Given the description of an element on the screen output the (x, y) to click on. 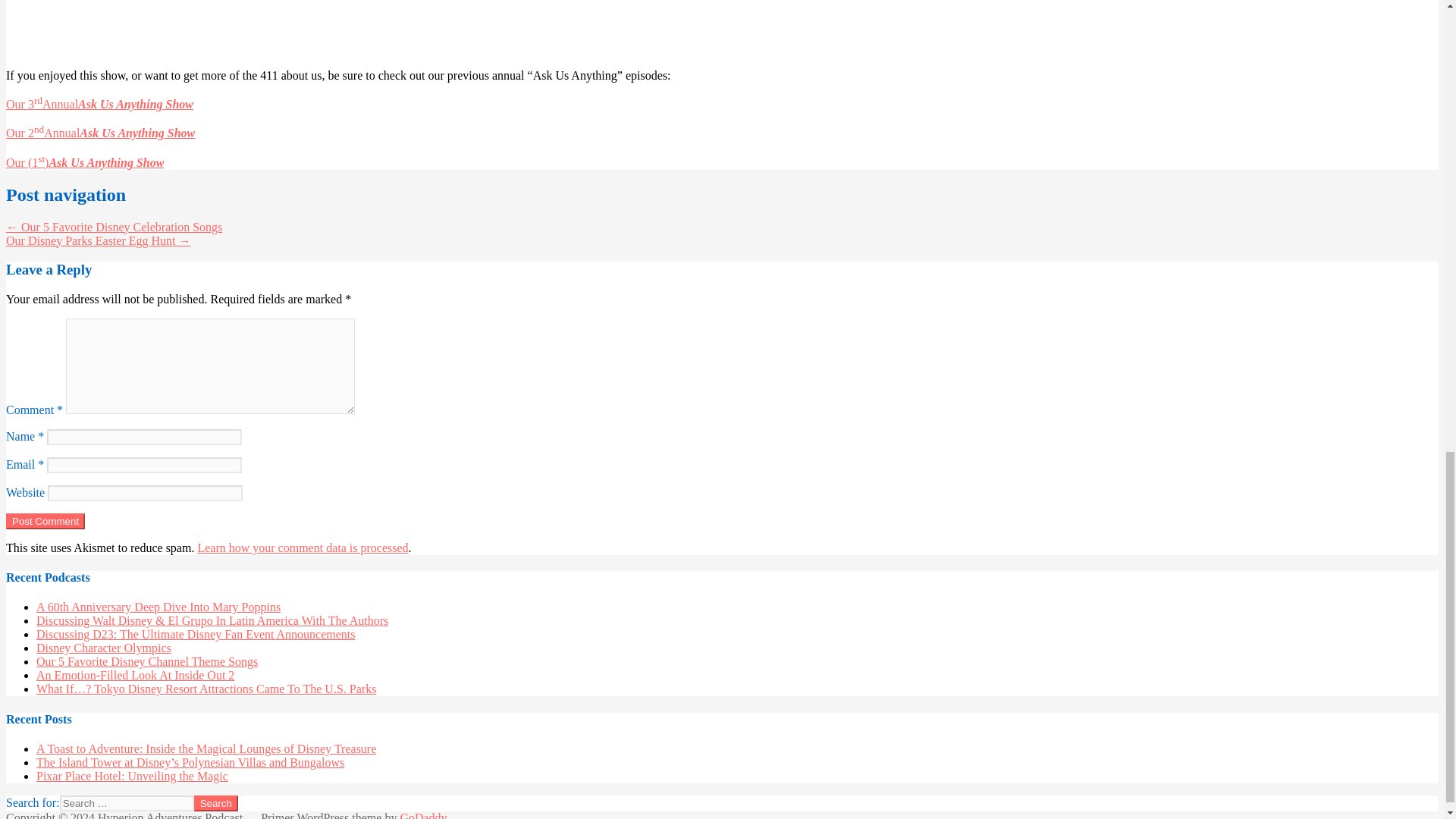
Discussing D23: The Ultimate Disney Fan Event Announcements (195, 634)
Disney Character Olympics (103, 647)
Search (215, 803)
Learn how your comment data is processed (301, 547)
Our 4th Annual Ask Us Anything Show (721, 27)
Post Comment (44, 521)
A 60th Anniversary Deep Dive Into Mary Poppins (158, 606)
Our 2ndAnnualAsk Us Anything Show (100, 132)
Post Comment (44, 521)
Our 3rdAnnualAsk Us Anything Show (99, 103)
